Given the description of an element on the screen output the (x, y) to click on. 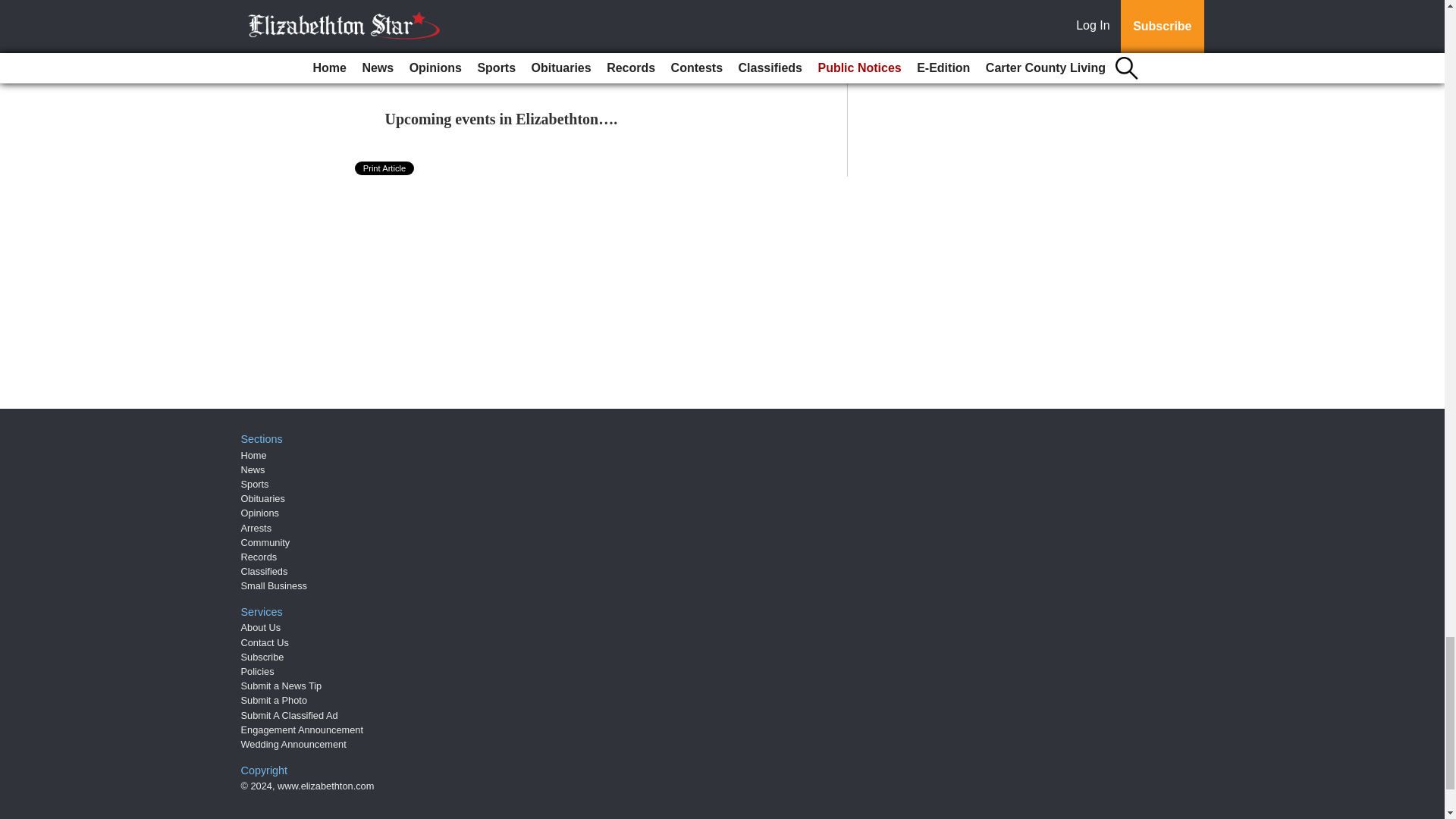
Print Article (384, 168)
Home (253, 455)
